Given the description of an element on the screen output the (x, y) to click on. 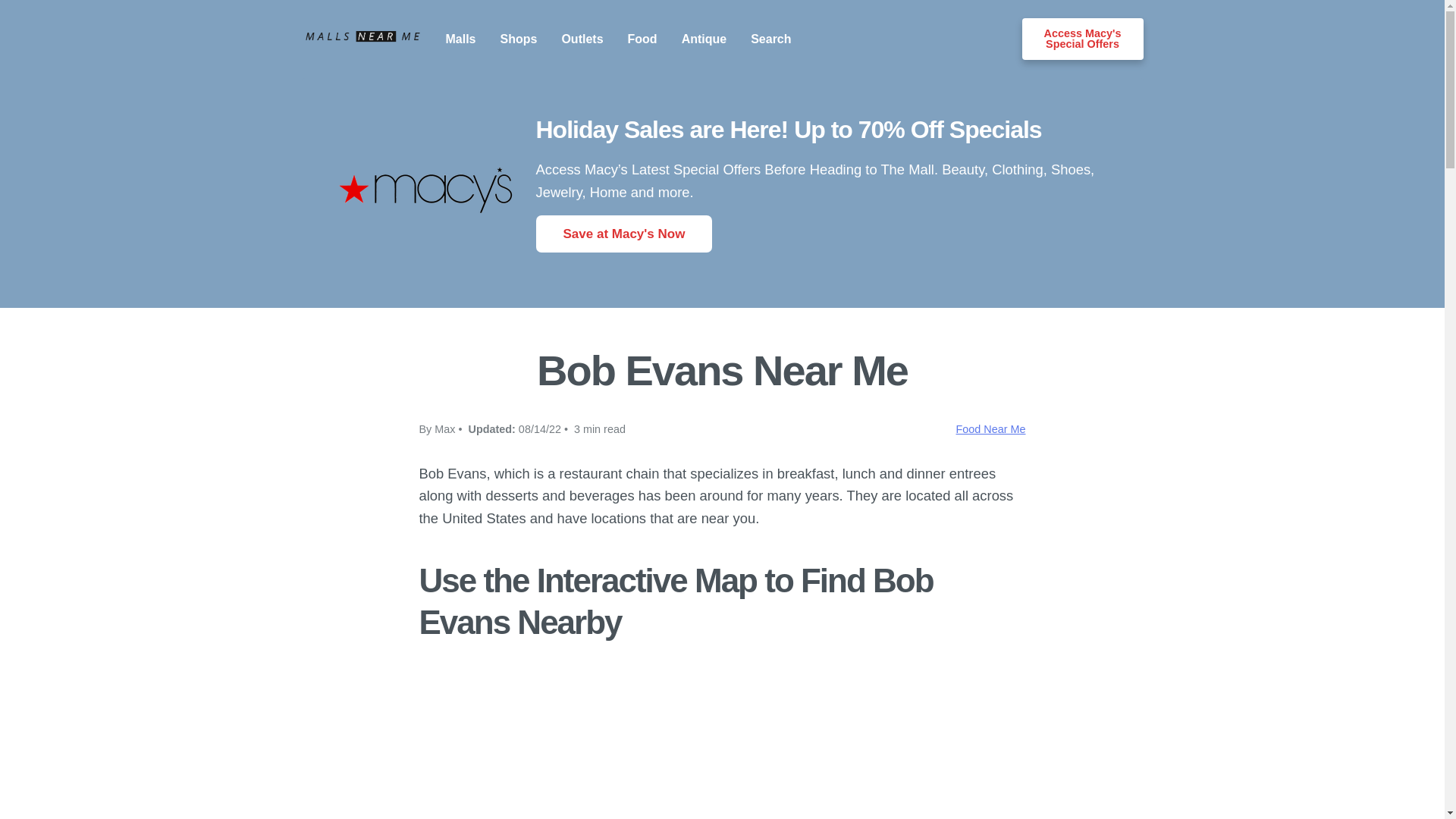
Search (770, 39)
Malls (460, 39)
Save at Macy's Now (623, 233)
Outlets (581, 39)
Food (642, 39)
Access Macy's Special Offers (1082, 38)
Food Near Me (991, 428)
Shops (518, 39)
Antique (703, 39)
